Given the description of an element on the screen output the (x, y) to click on. 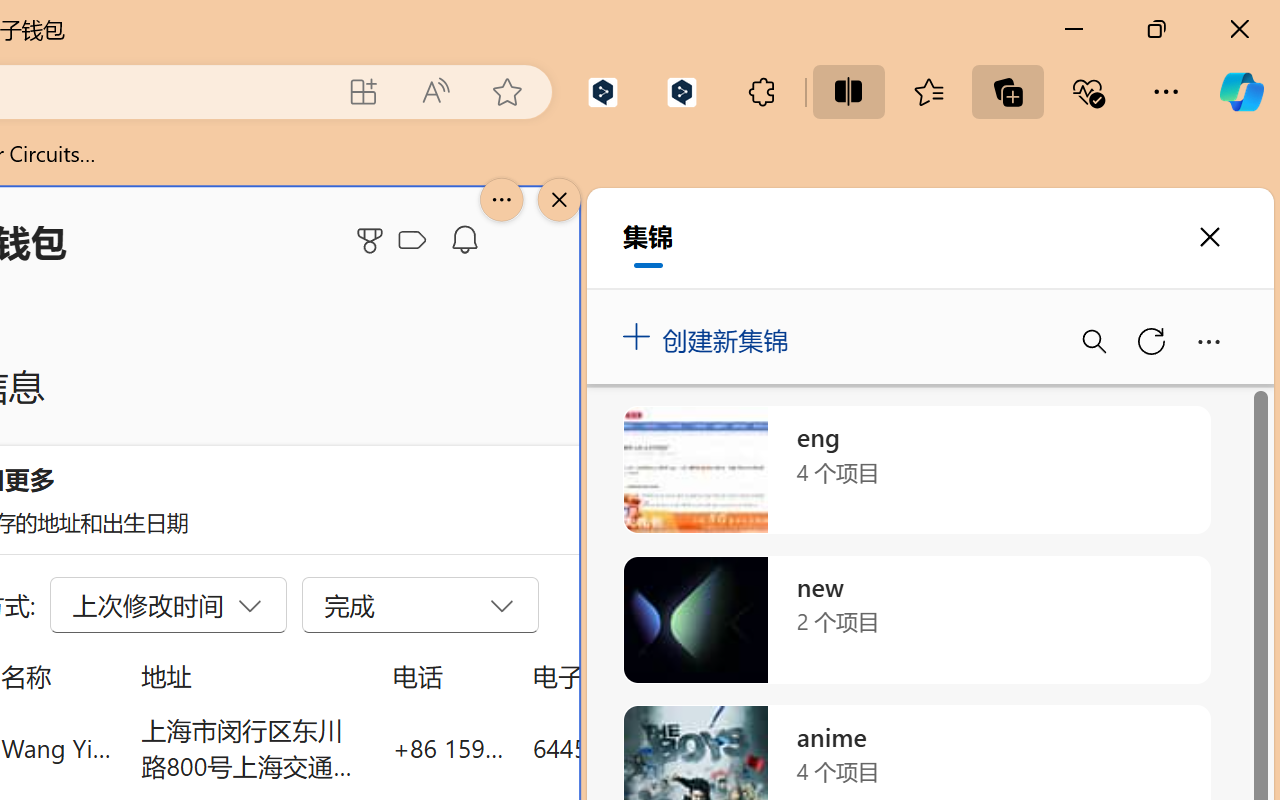
Microsoft Rewards (373, 240)
Microsoft Cashback (415, 241)
Class: ___1lmltc5 f1agt3bx f12qytpq (411, 241)
644553698@qq.com (644, 747)
